Given the description of an element on the screen output the (x, y) to click on. 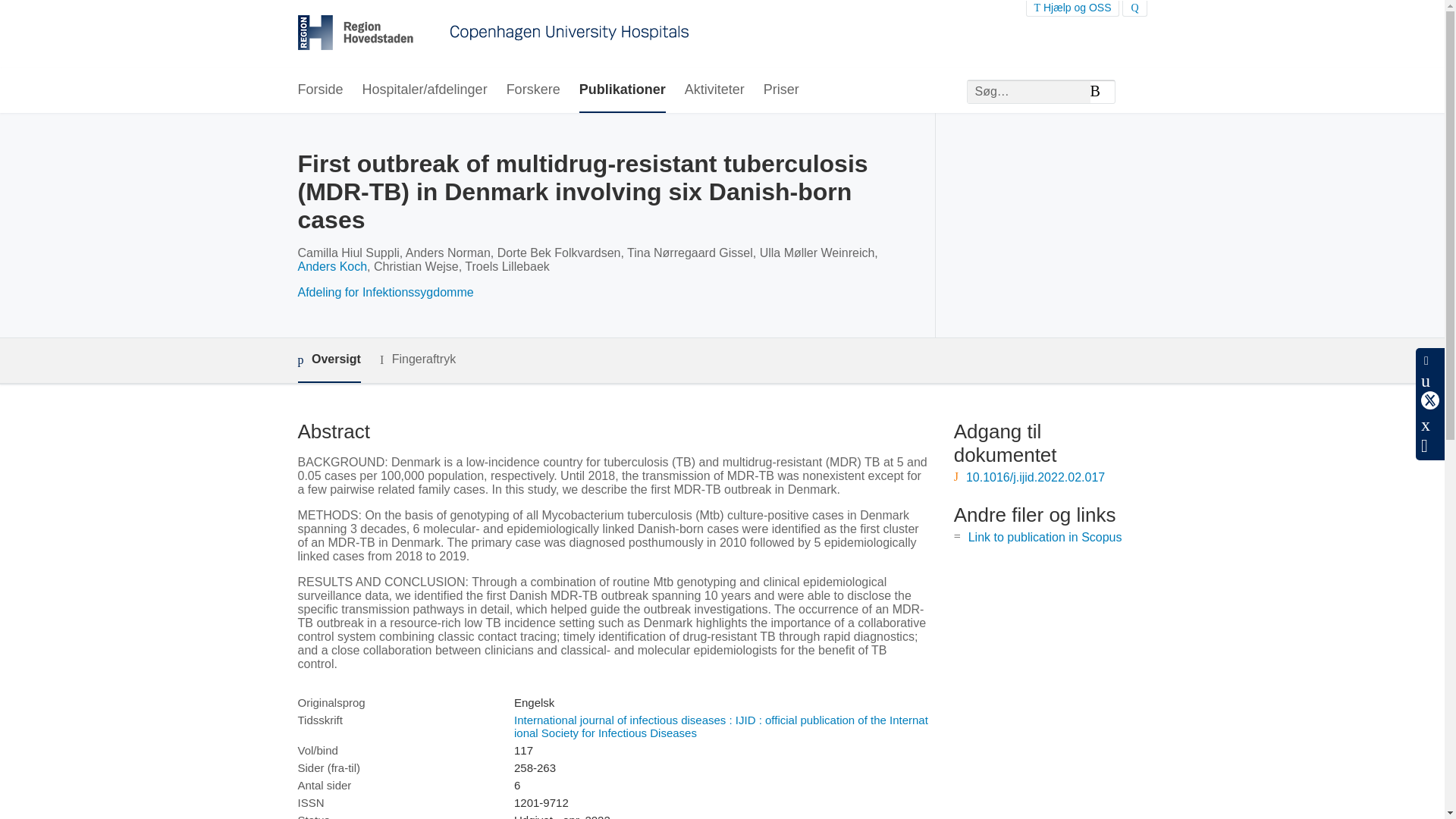
Region Hovedstadens forskningsportal Forside (492, 34)
Publikationer (622, 90)
Link to publication in Scopus (1045, 536)
Anders Koch (331, 266)
Fingeraftryk (417, 359)
Forside (319, 90)
Aktiviteter (714, 90)
Oversigt (328, 360)
Forskere (533, 90)
Afdeling for Infektionssygdomme (385, 291)
